Given the description of an element on the screen output the (x, y) to click on. 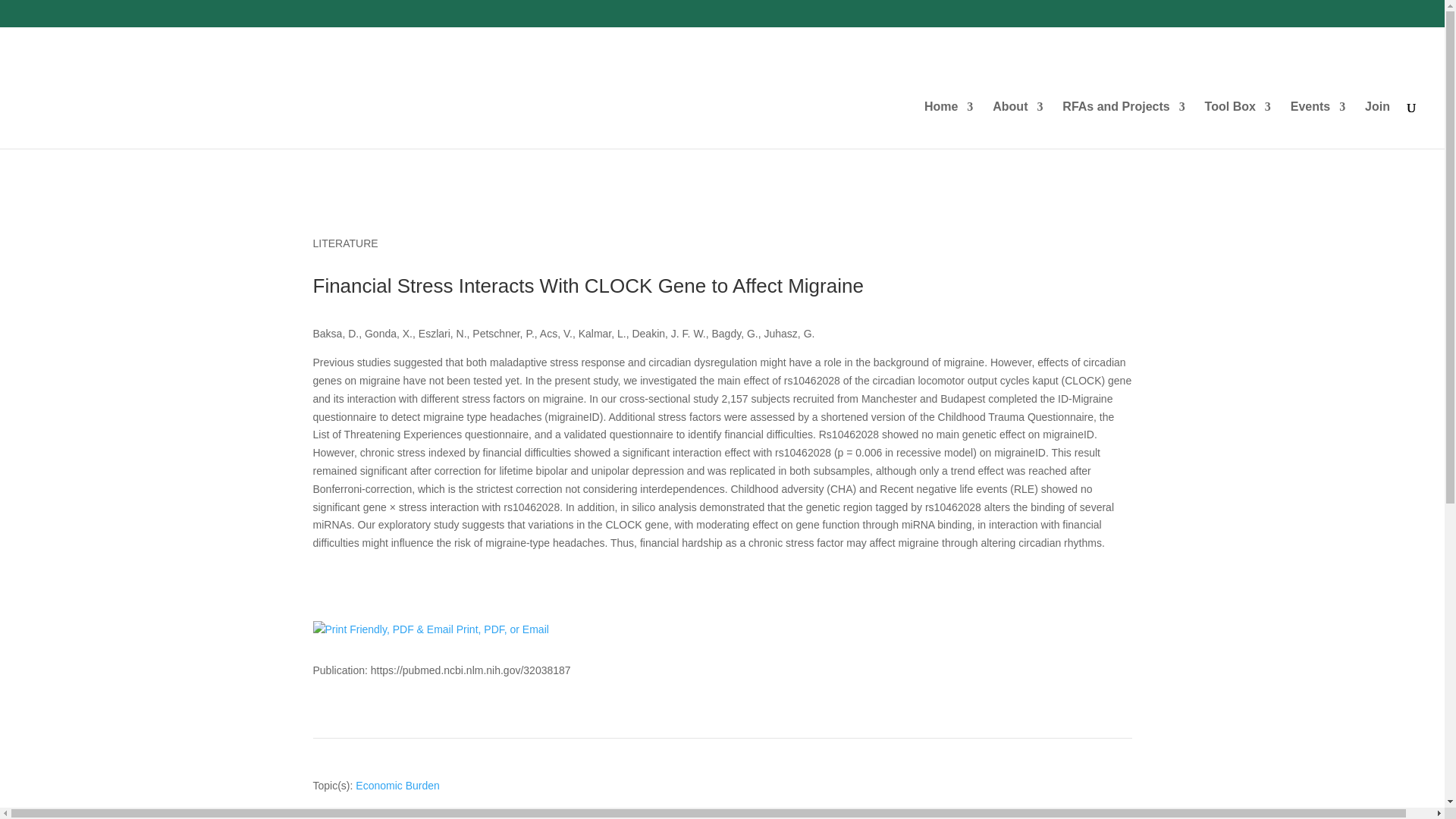
RFAs and Projects (1123, 119)
About (1017, 119)
Print, PDF, or Email (430, 629)
Tool Box (1238, 119)
Economic Burden (397, 785)
Events (1317, 119)
Home (948, 119)
